Given the description of an element on the screen output the (x, y) to click on. 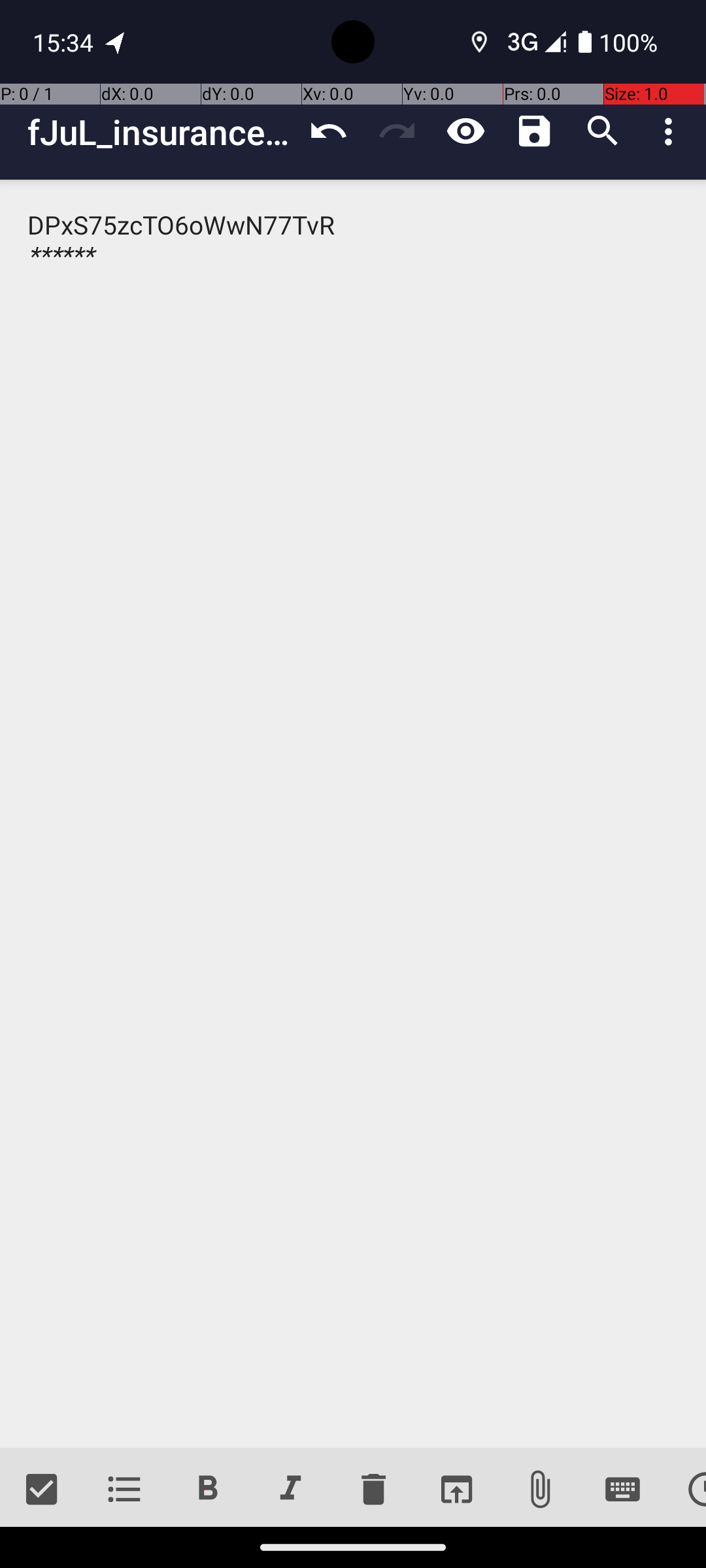
fJuL_insurance_plan_comparison Element type: android.widget.TextView (160, 131)
DPxS75zcTO6oWwN77TvR
****** Element type: android.widget.EditText (353, 813)
